Given the description of an element on the screen output the (x, y) to click on. 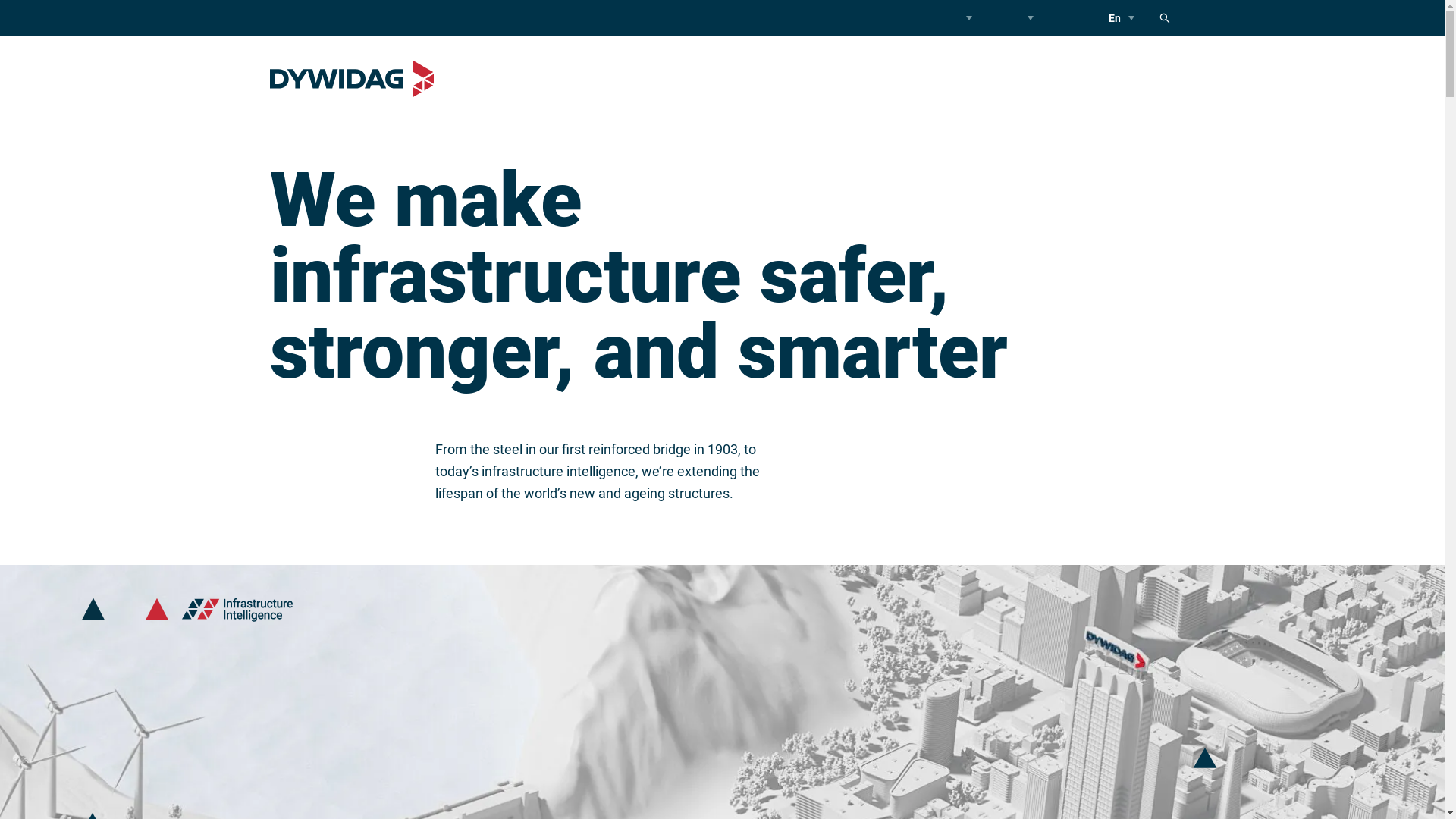
En Element type: text (1118, 18)
Dywidag Element type: text (351, 78)
